Given the description of an element on the screen output the (x, y) to click on. 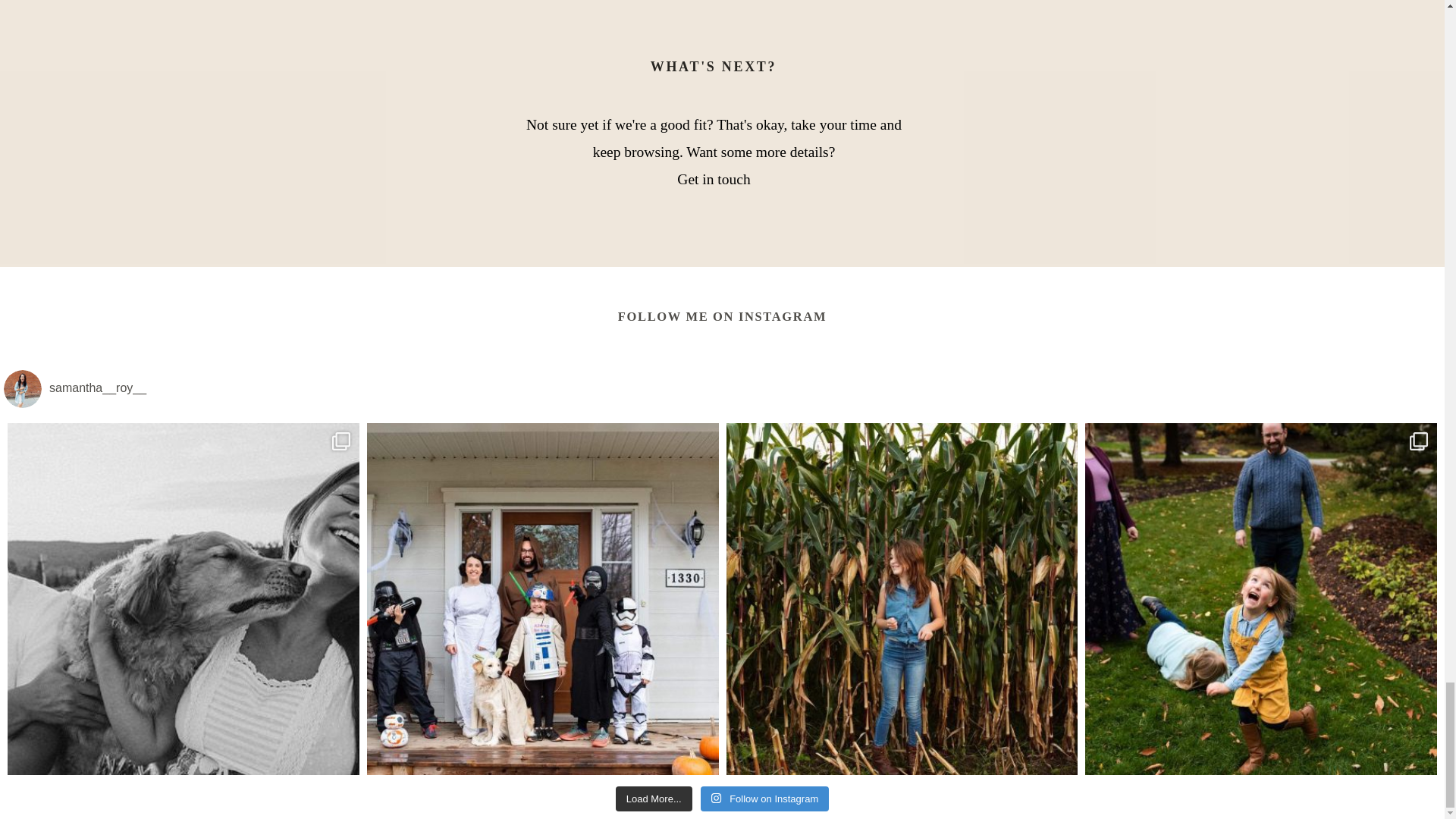
Get in touch (713, 179)
Follow on Instagram (764, 798)
Load More... (654, 798)
